Given the description of an element on the screen output the (x, y) to click on. 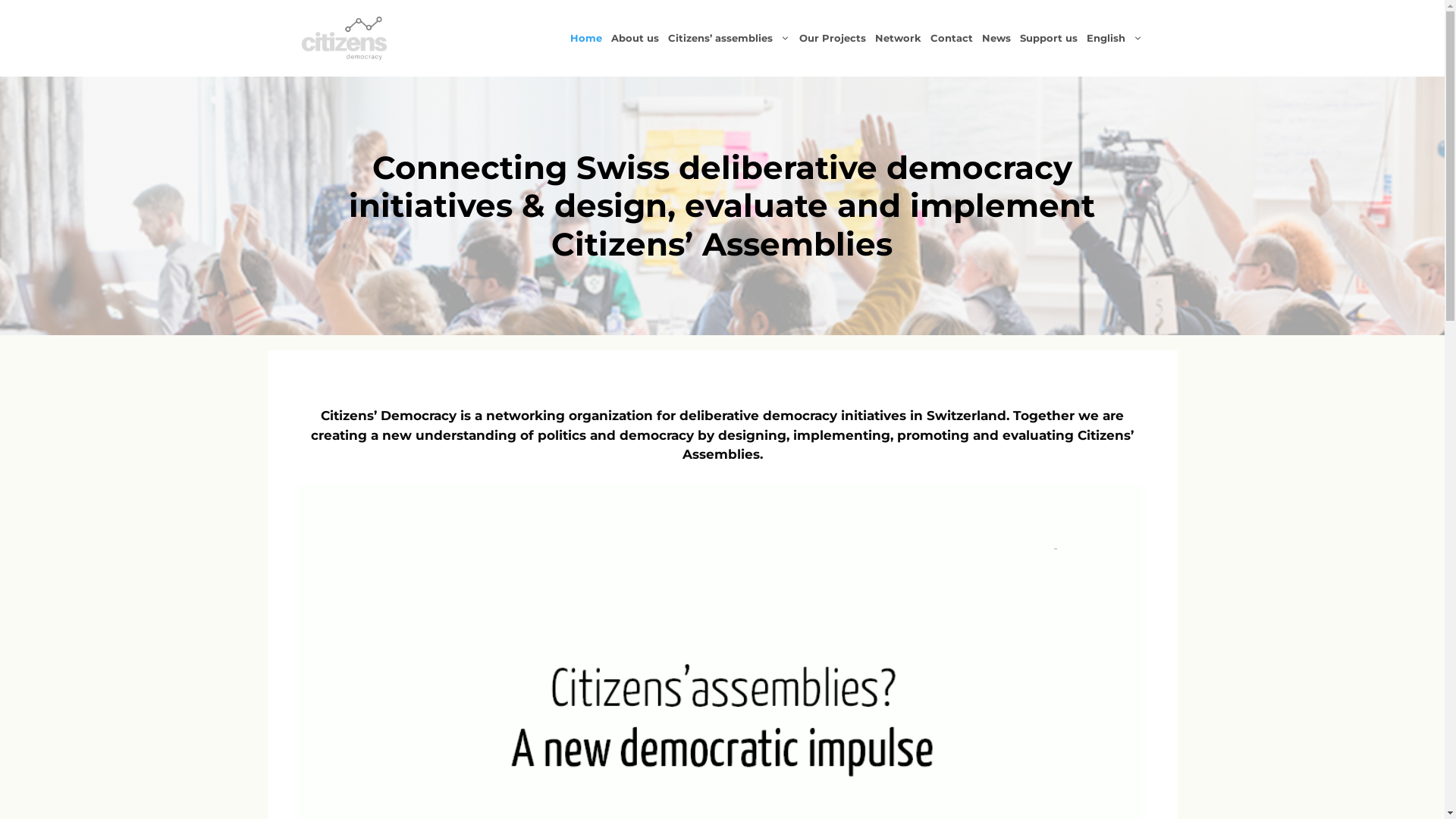
News Element type: text (995, 38)
Our Projects Element type: text (832, 38)
Support us Element type: text (1047, 38)
English Element type: text (1113, 38)
Network Element type: text (897, 38)
Contact Element type: text (950, 38)
About us Element type: text (634, 38)
Home Element type: text (585, 38)
